Given the description of an element on the screen output the (x, y) to click on. 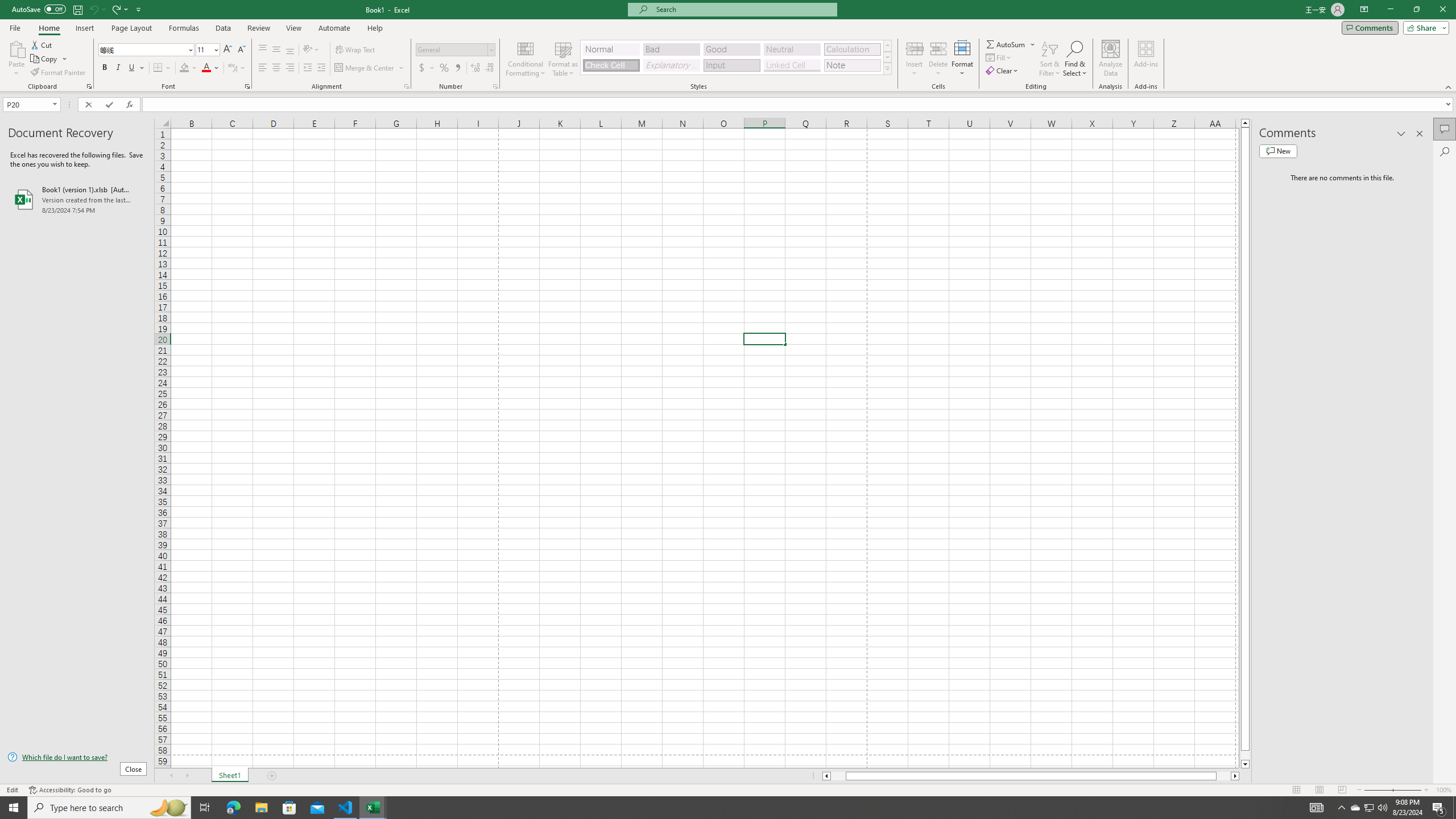
Font (147, 49)
Input (731, 65)
Format Cell Alignment (405, 85)
Office Clipboard... (88, 85)
Copy (49, 58)
Neutral (791, 49)
Decrease Font Size (240, 49)
